Given the description of an element on the screen output the (x, y) to click on. 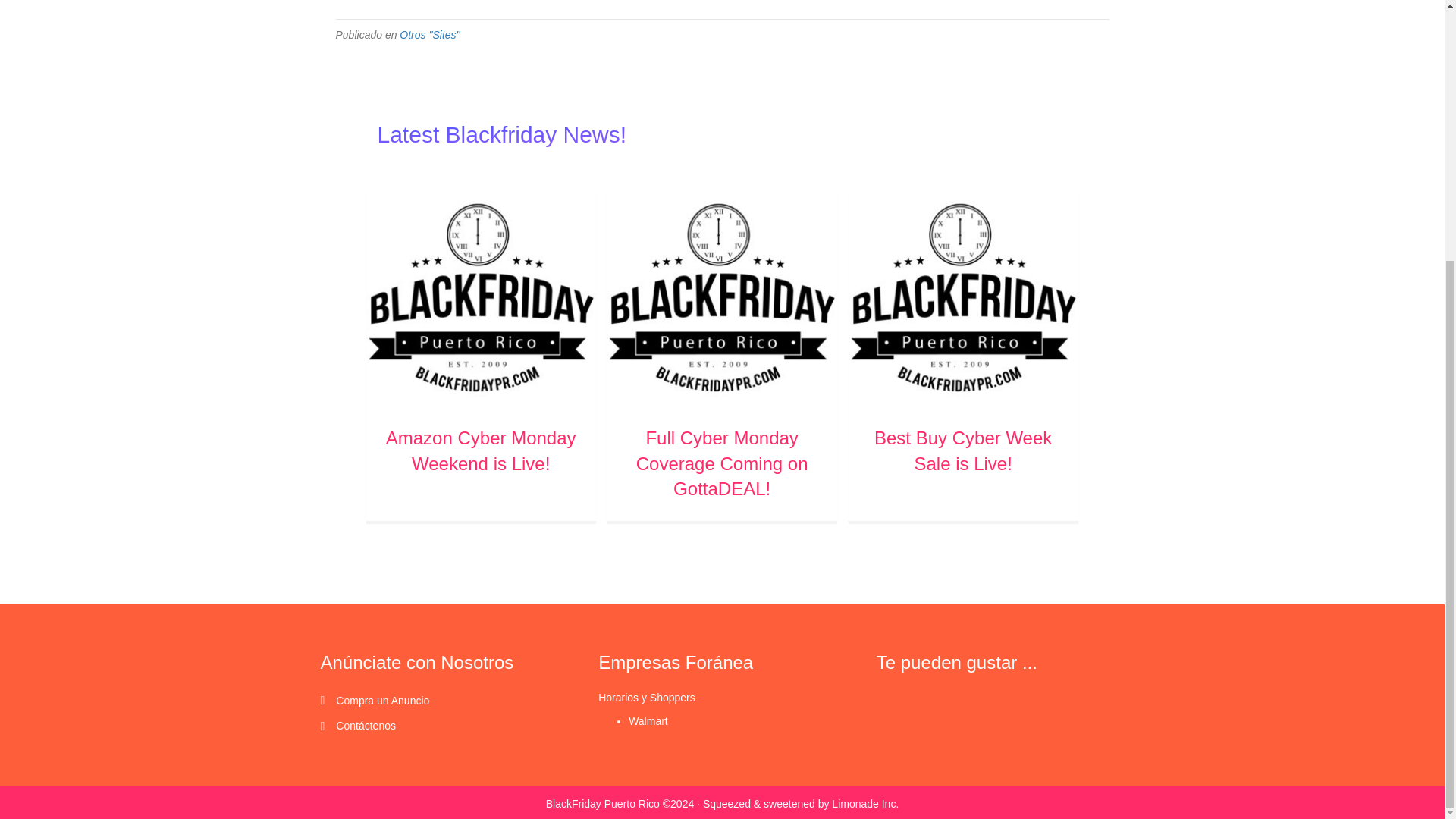
Amazon Cyber Monday Weekend is Live! (480, 450)
Best Buy Cyber Week Sale is Live! (963, 450)
Horarios y Shoppers (646, 697)
Best Buy Cyber Week Sale is Live! (963, 450)
Compra un Anuncio (382, 700)
Full Cyber Monday Coverage Coming on GottaDEAL! (722, 462)
Full Cyber Monday Coverage Coming on GottaDEAL! (721, 296)
Walmart (648, 720)
Amazon Cyber Monday Weekend is Live! (480, 296)
Otros "Sites" (429, 34)
Full Cyber Monday Coverage Coming on GottaDEAL! (722, 462)
Amazon Cyber Monday Weekend is Live! (480, 450)
sweetened by Limonade Inc. (830, 803)
Best Buy Cyber Week Sale is Live! (962, 296)
Limonade Inc (830, 803)
